Given the description of an element on the screen output the (x, y) to click on. 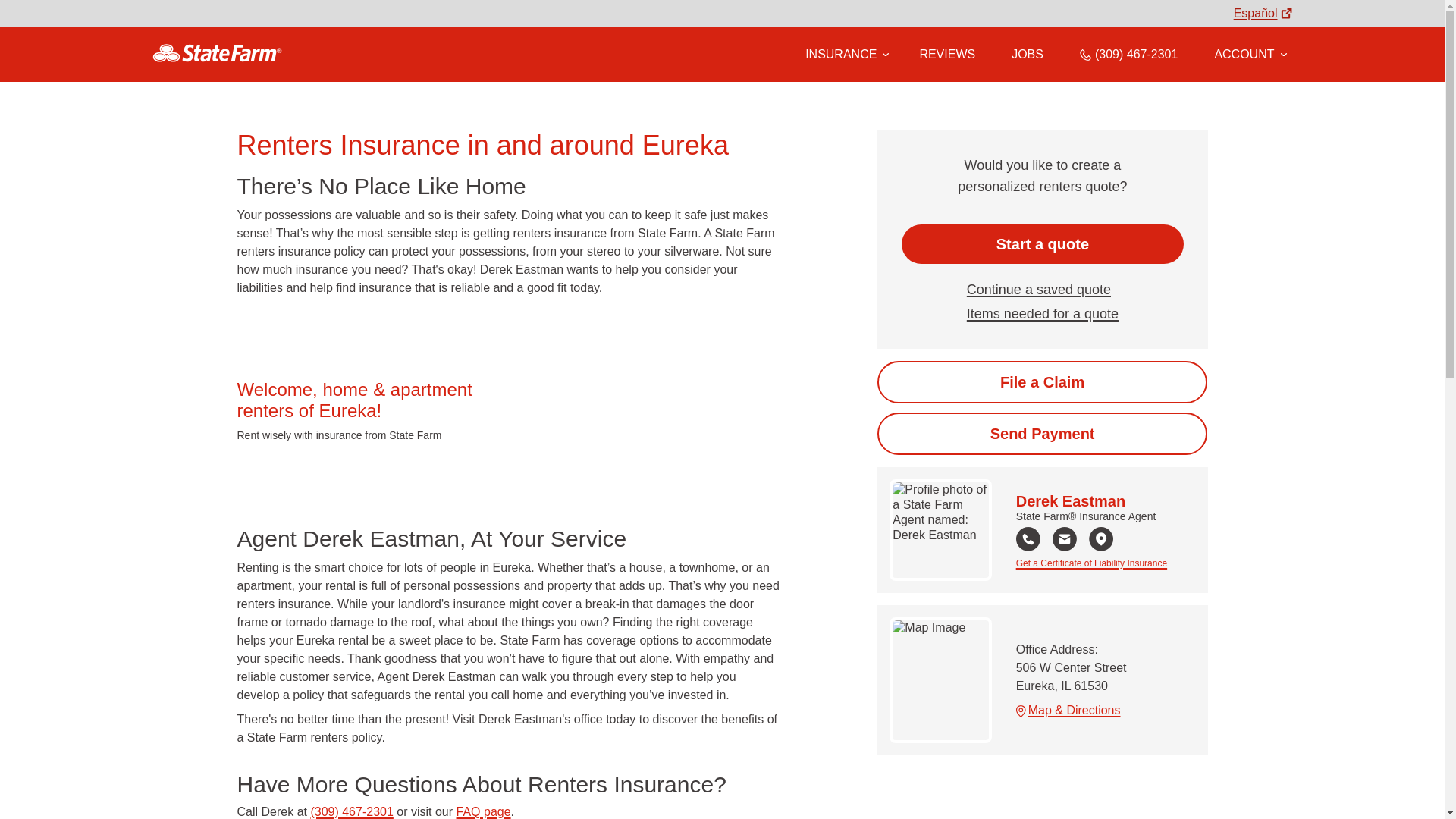
Account Options (1250, 54)
ACCOUNT (1250, 54)
Insurance (844, 54)
INSURANCE (840, 54)
Start the claim process online (1042, 382)
FAQ page (484, 811)
REVIEWS (946, 54)
JOBS (1027, 54)
